Given the description of an element on the screen output the (x, y) to click on. 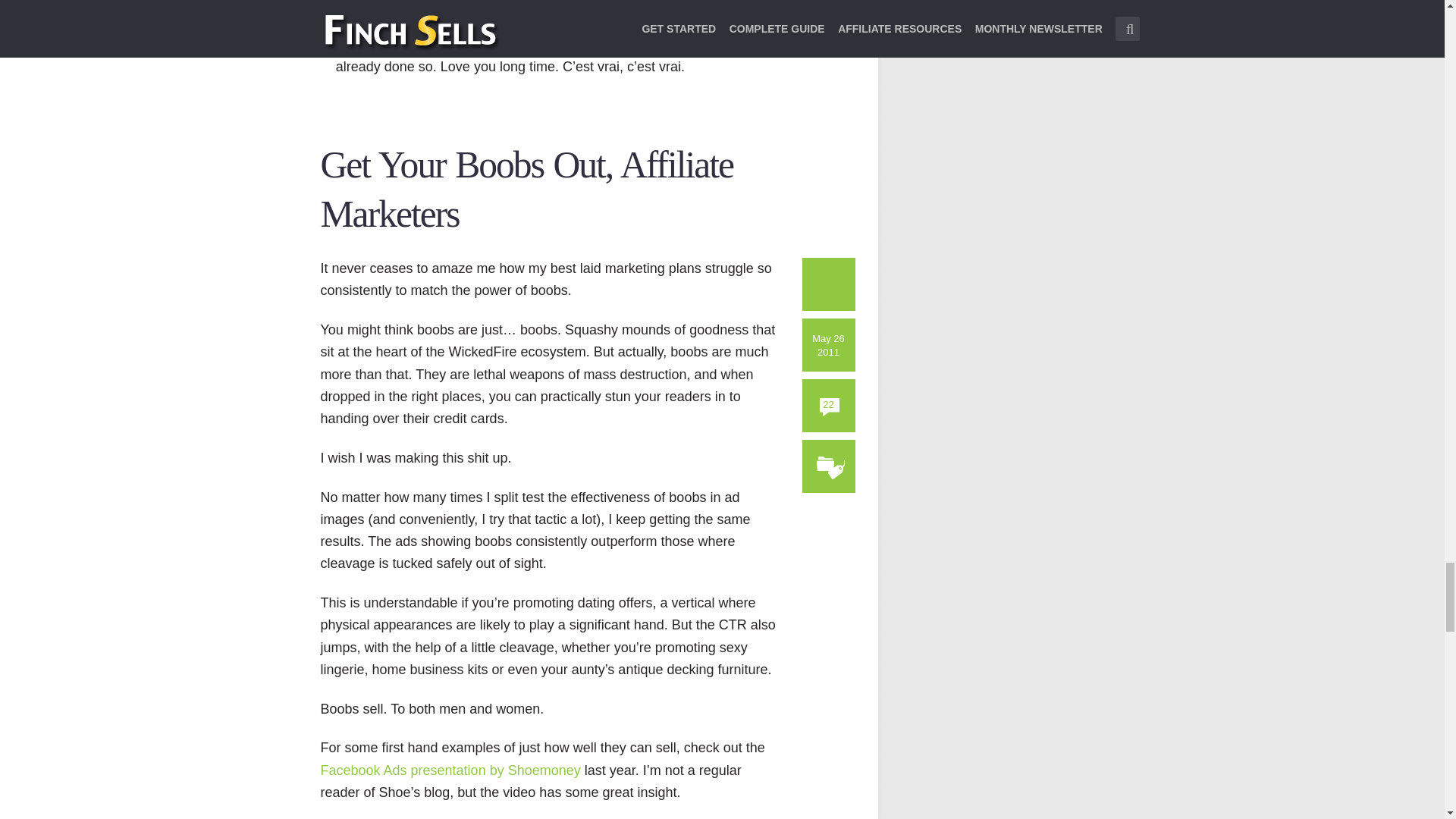
Get Your Boobs Out, Affiliate Marketers (526, 189)
